Given the description of an element on the screen output the (x, y) to click on. 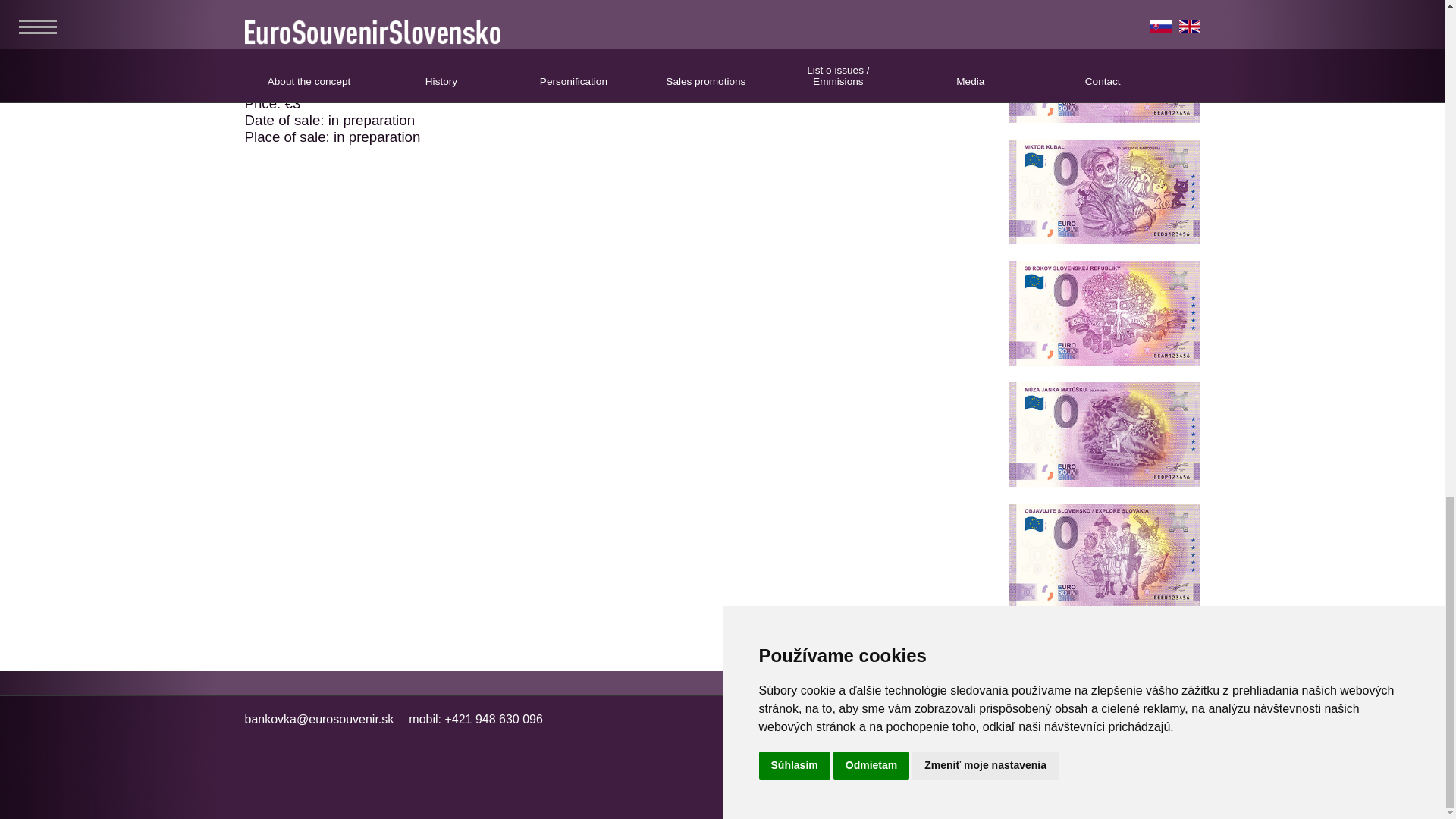
Euro Souvenir OBJAVUJTE SLOVENSKO (1104, 603)
Euro Souvenir VIKTOR KUBAL (1104, 239)
Euro Souvenir 30 ROKOV SLOVENSKEJ REPUBLIKY (1104, 360)
